Given the description of an element on the screen output the (x, y) to click on. 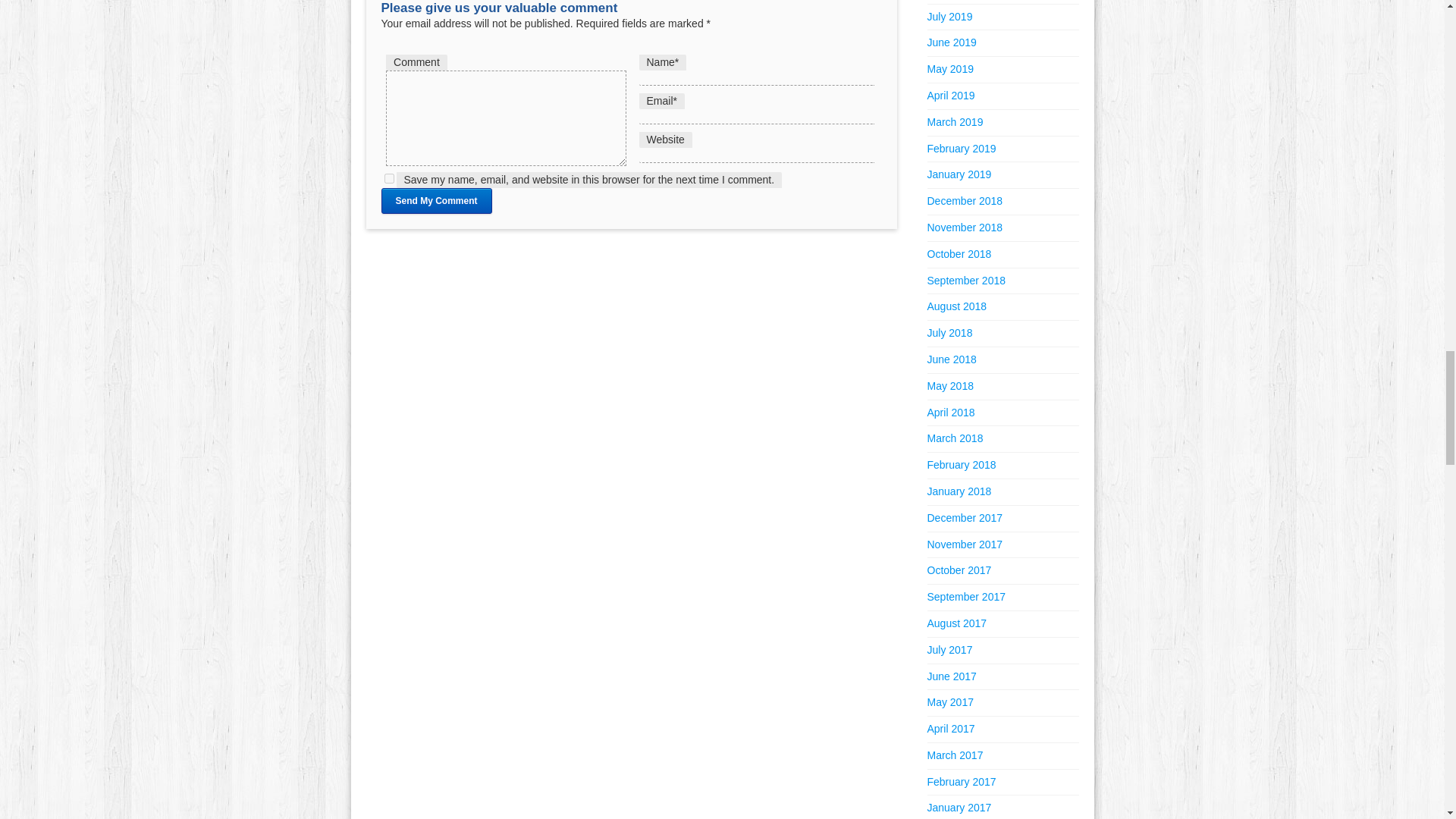
yes (388, 178)
Send My Comment (436, 200)
Send My Comment (436, 200)
